Given the description of an element on the screen output the (x, y) to click on. 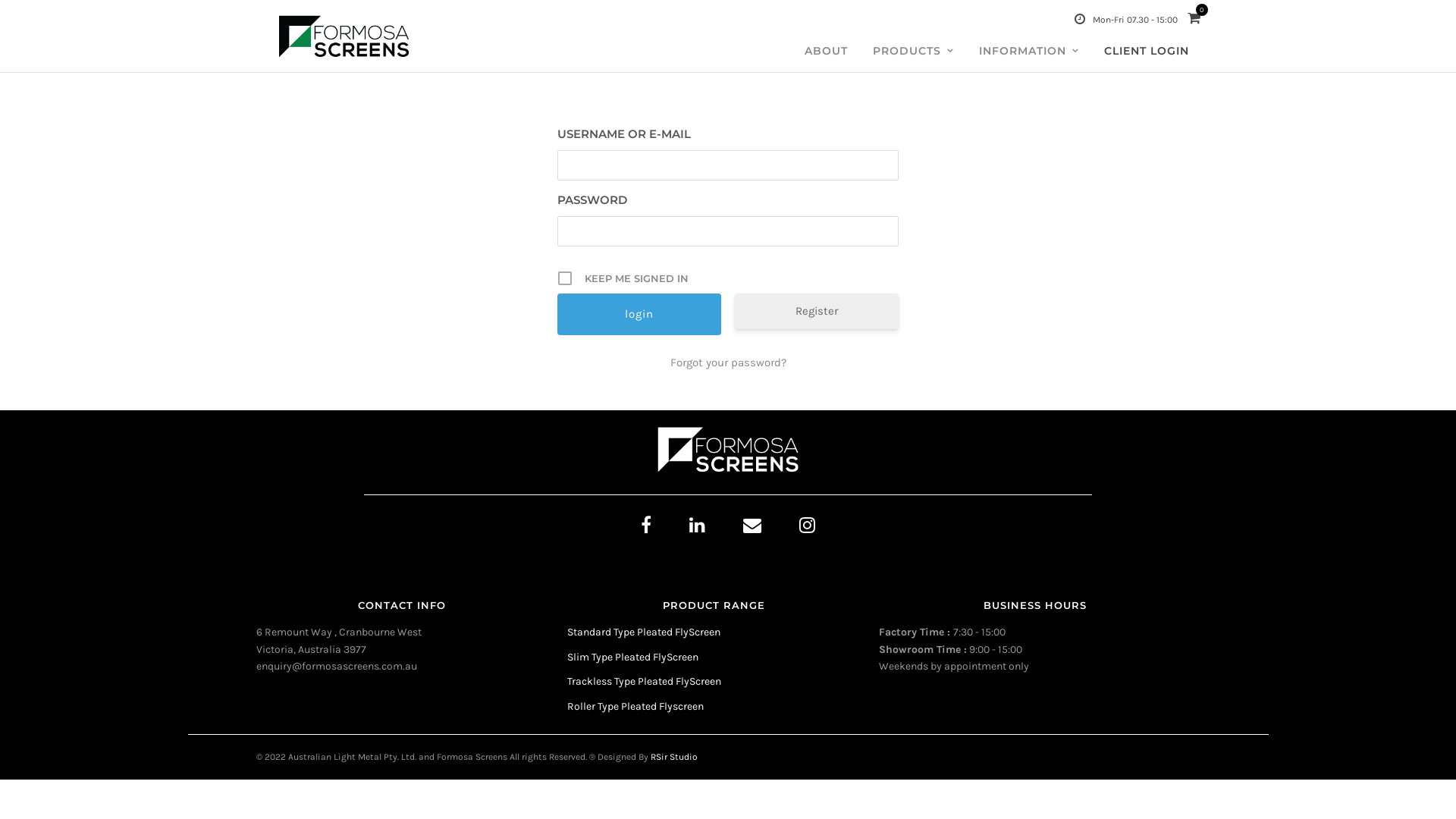
Register Element type: text (816, 311)
Slim Type Pleated FlyScreen Element type: text (632, 656)
Roller Type Pleated Flyscreen Element type: text (635, 705)
Trackless Type Pleated FlyScreen Element type: text (644, 680)
PRODUCTS Element type: text (913, 51)
Standard Type Pleated FlyScreen Element type: text (643, 631)
RSir Studio Element type: text (673, 756)
Forgot your password? Element type: text (727, 361)
INFORMATION Element type: text (1028, 51)
CLIENT LOGIN Element type: text (1145, 51)
login Element type: text (639, 314)
ABOUT Element type: text (826, 51)
